Given the description of an element on the screen output the (x, y) to click on. 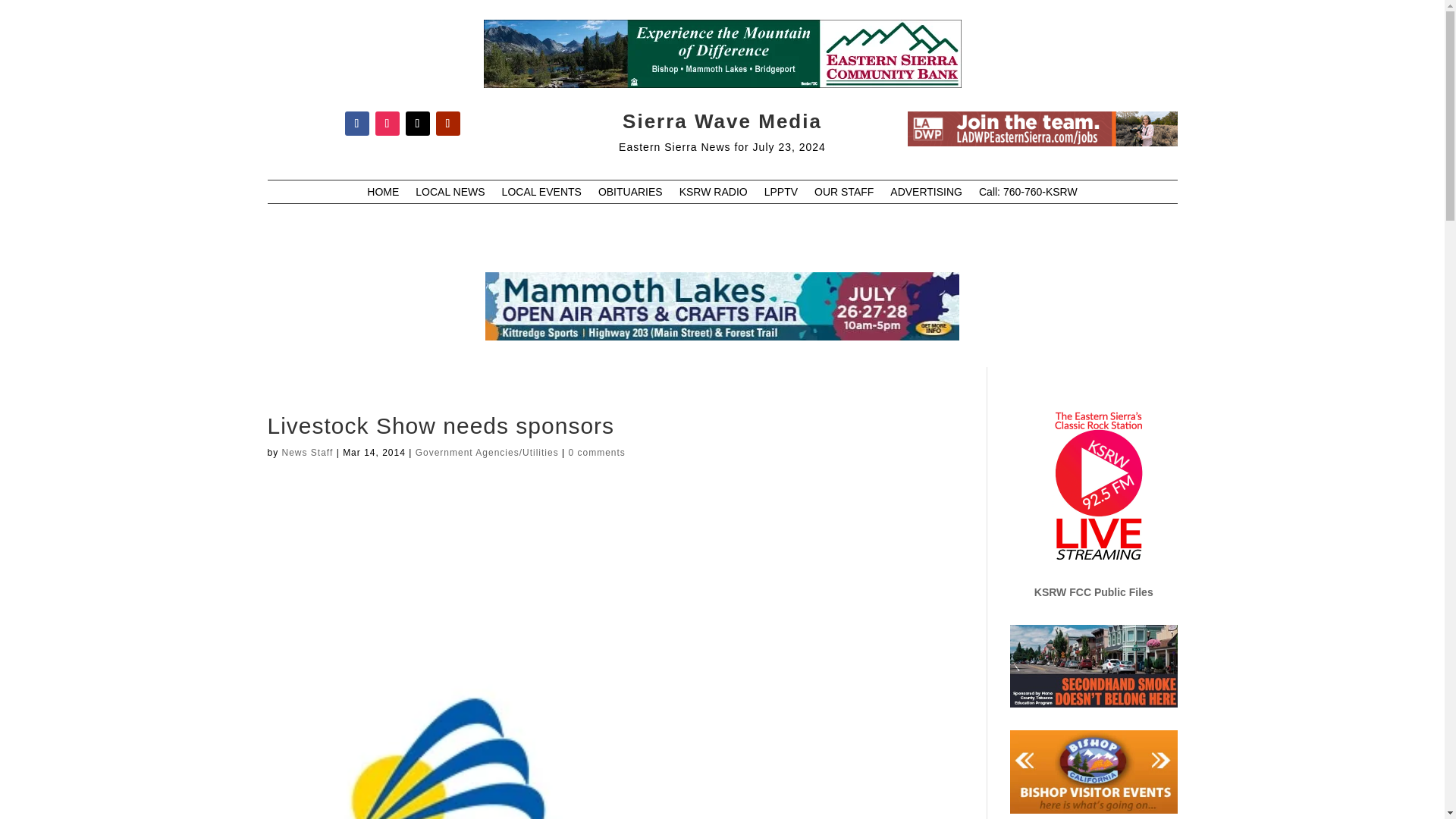
Follow on Instagram (386, 123)
Posts by News Staff (307, 452)
OBITUARIES (630, 194)
KSRW FCC Public Files (1093, 592)
Follow on Facebook (355, 123)
Home (382, 194)
News Staff (307, 452)
ADVERTISING (925, 194)
Call: 760-760-KSRW (1027, 194)
dec (1041, 128)
Follow on X (416, 123)
OUR STAFF (843, 194)
Follow on Youtube (447, 123)
LPPTV (780, 194)
HOME (382, 194)
